Given the description of an element on the screen output the (x, y) to click on. 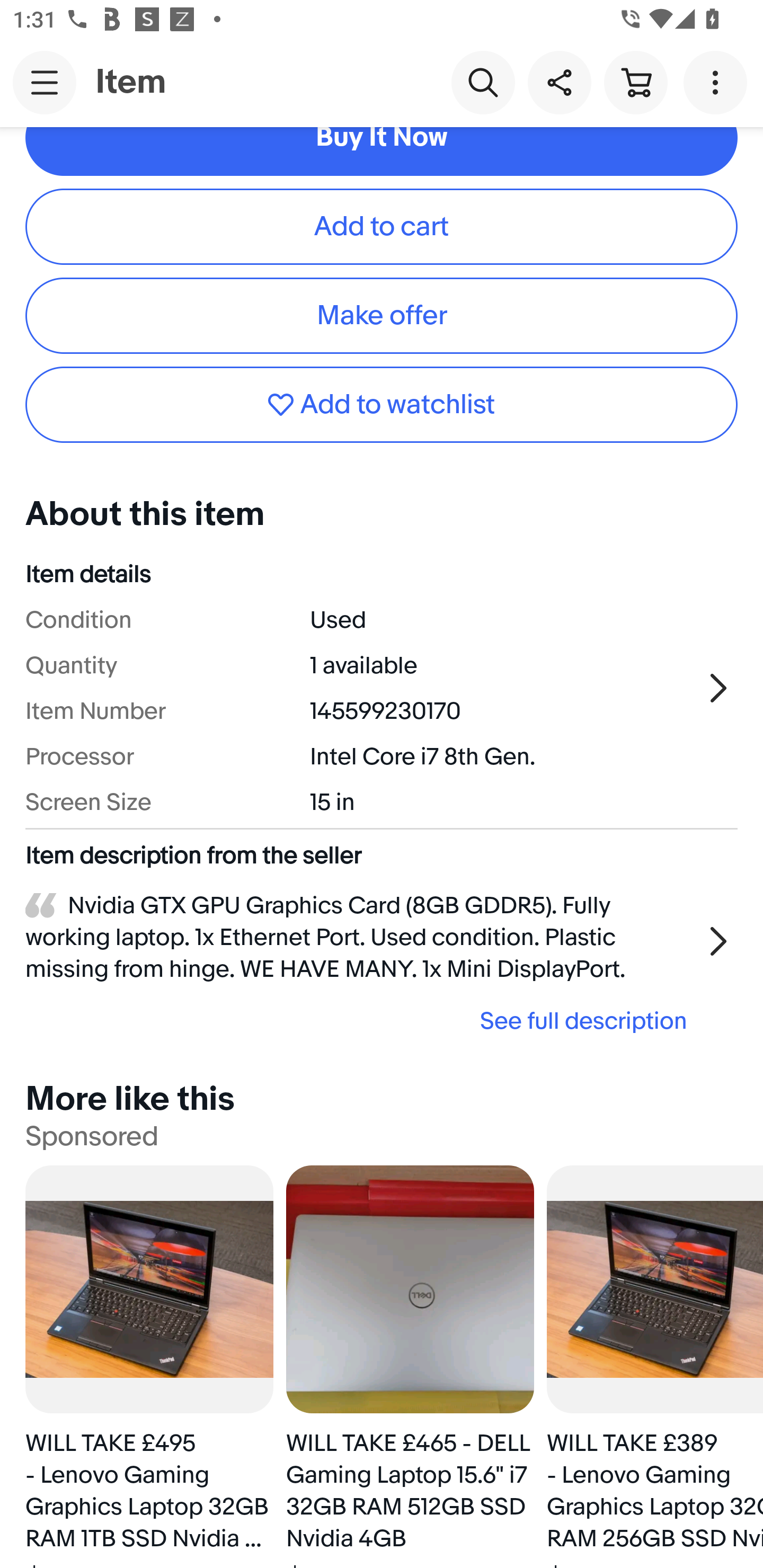
Main navigation, open (44, 82)
Search (482, 81)
Share this item (559, 81)
Cart button shopping cart (635, 81)
More options (718, 81)
Buy It Now (381, 151)
Add to cart (381, 226)
Make offer (381, 315)
Add to watchlist (381, 404)
See full description (362, 1021)
